Given the description of an element on the screen output the (x, y) to click on. 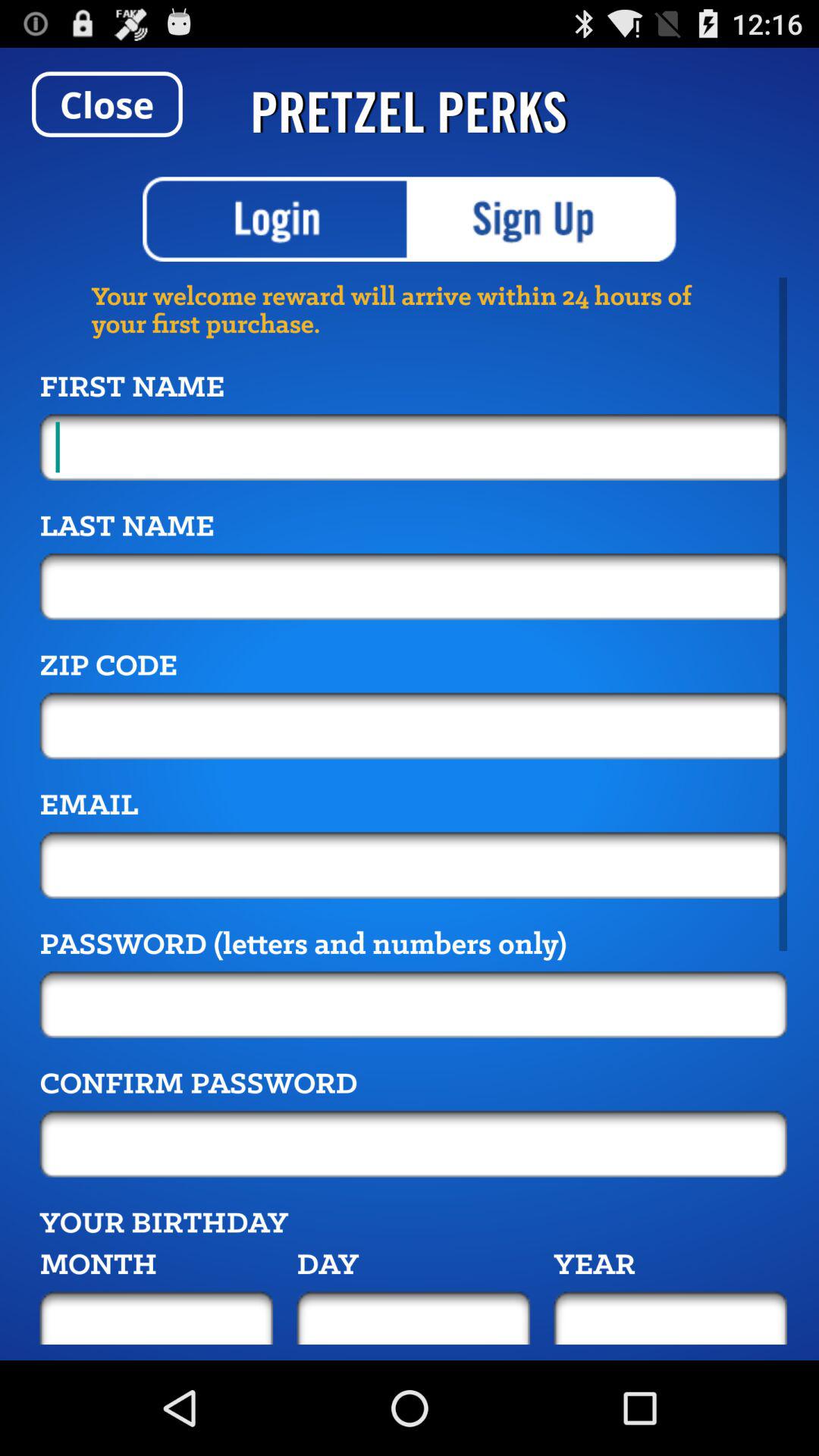
enter the zipcode in the space (413, 725)
